Given the description of an element on the screen output the (x, y) to click on. 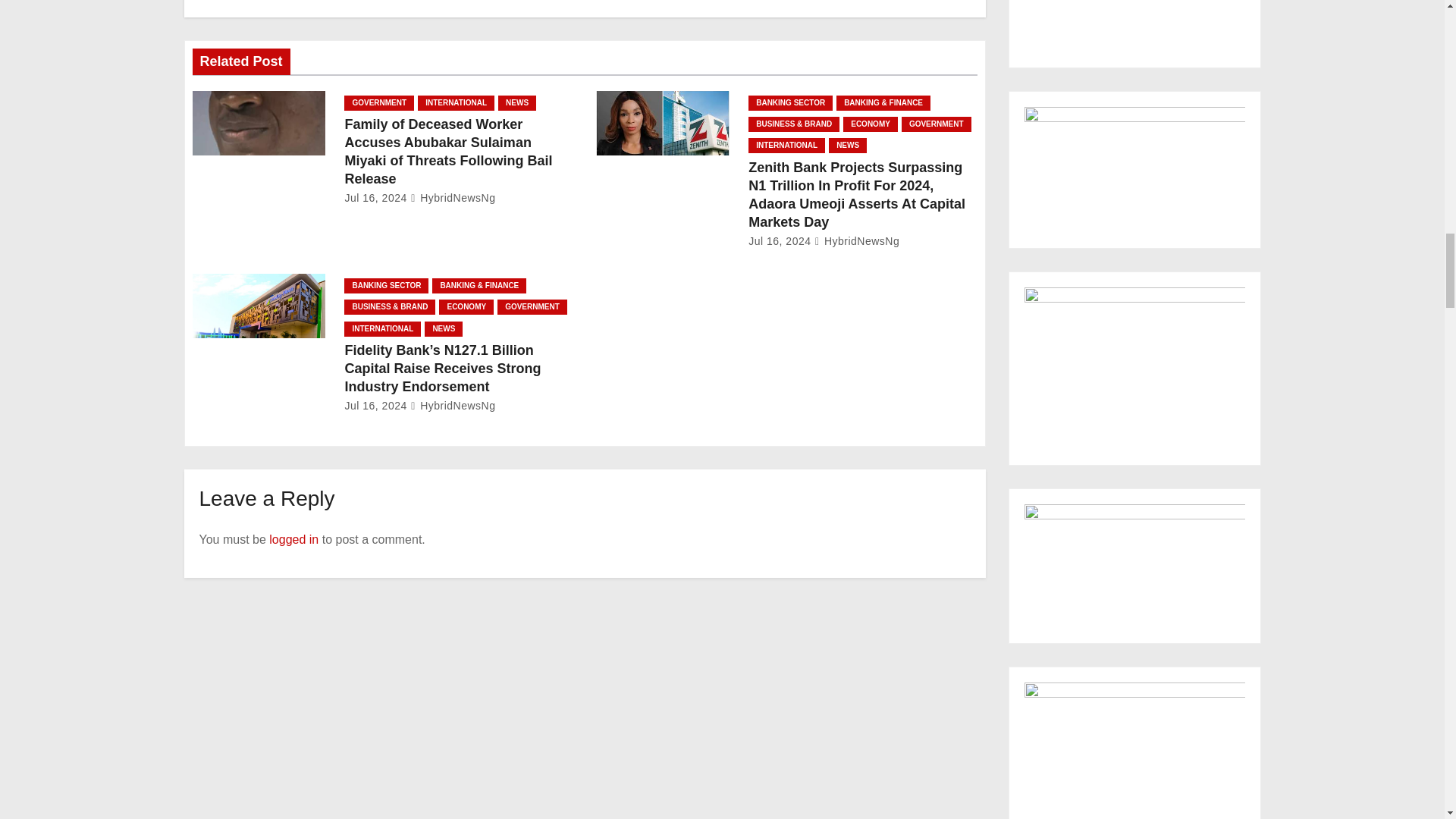
NEWS (516, 102)
GOVERNMENT (378, 102)
INTERNATIONAL (456, 102)
